Given the description of an element on the screen output the (x, y) to click on. 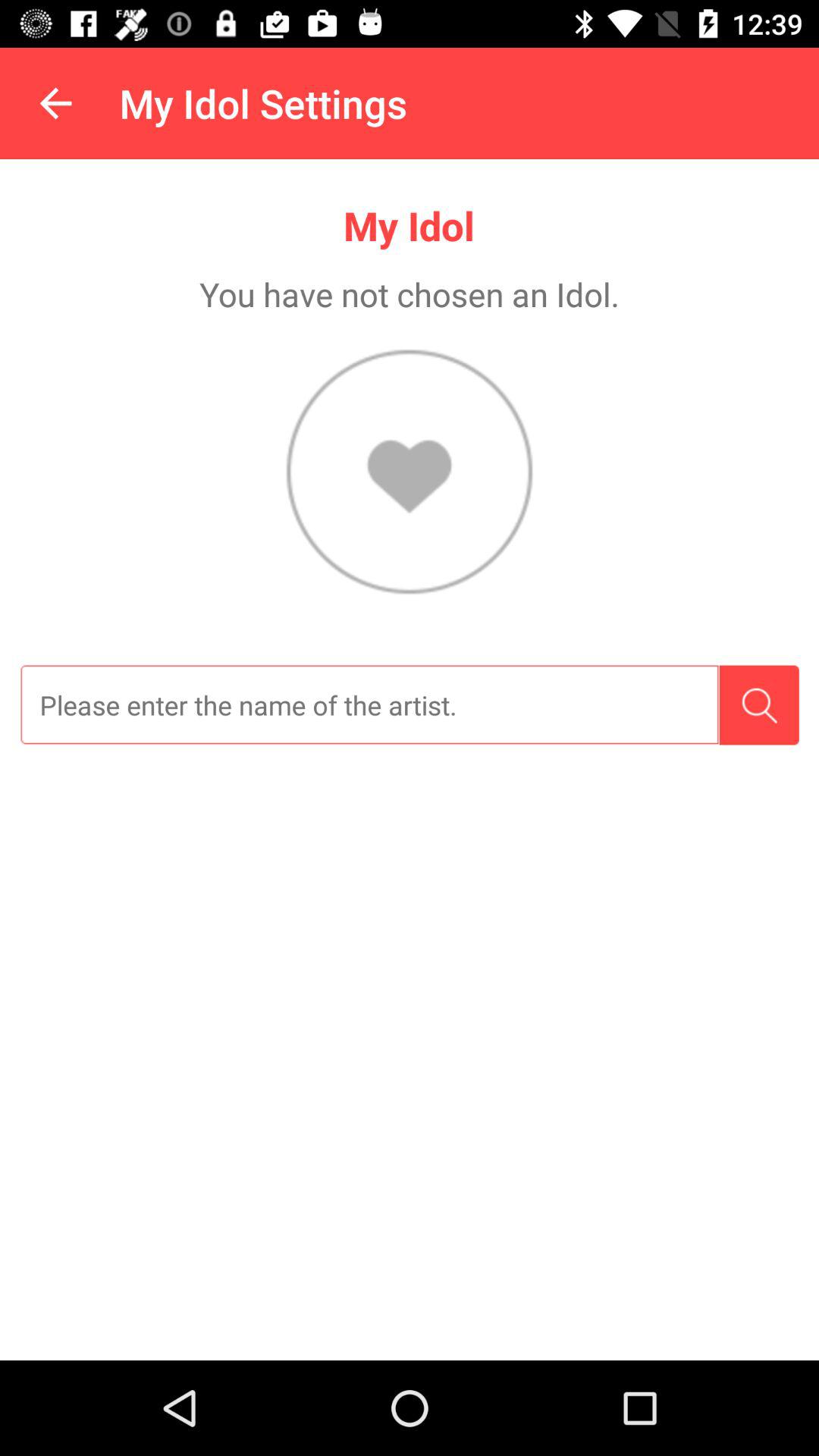
search (759, 705)
